Given the description of an element on the screen output the (x, y) to click on. 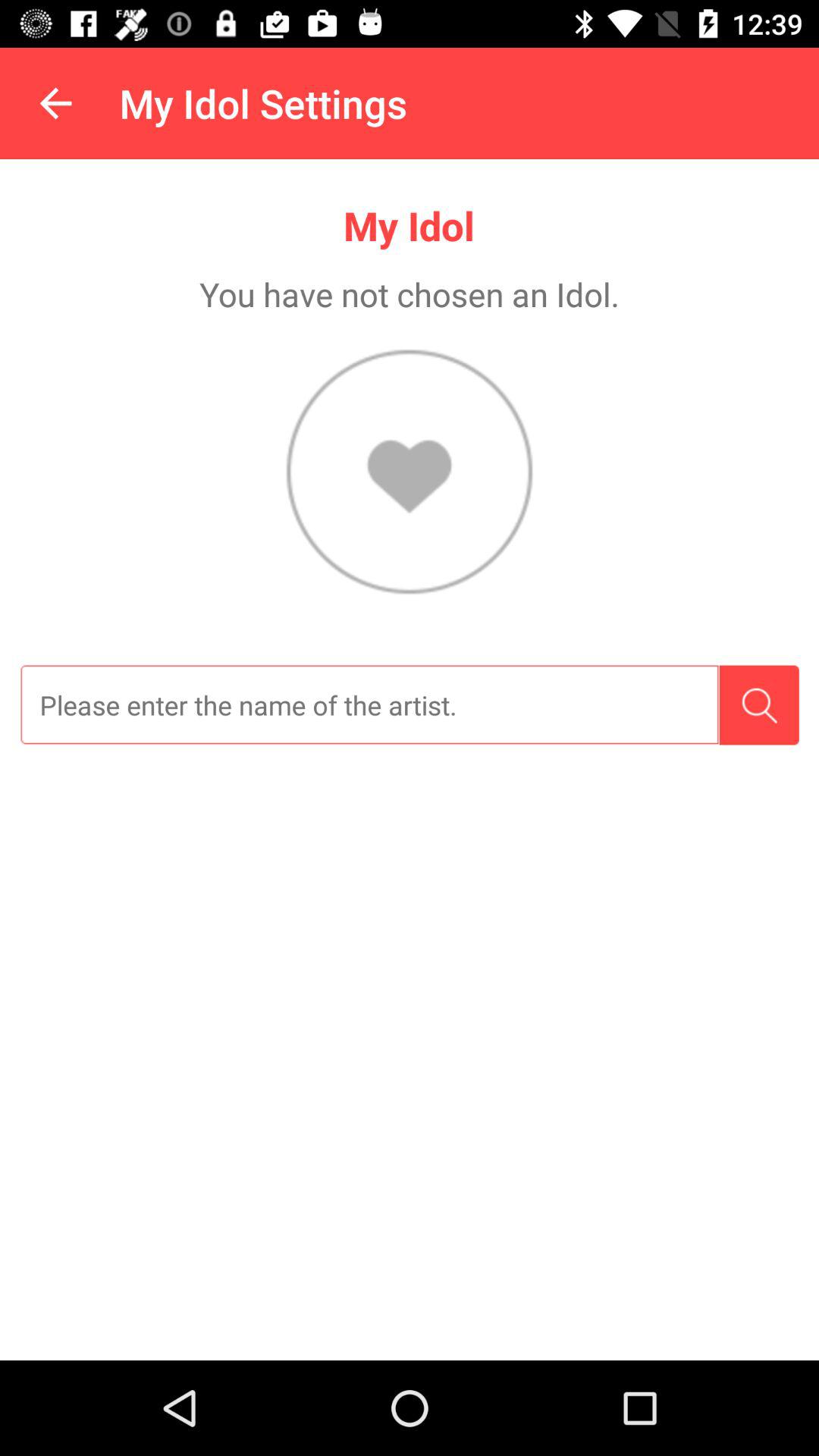
search (759, 705)
